Given the description of an element on the screen output the (x, y) to click on. 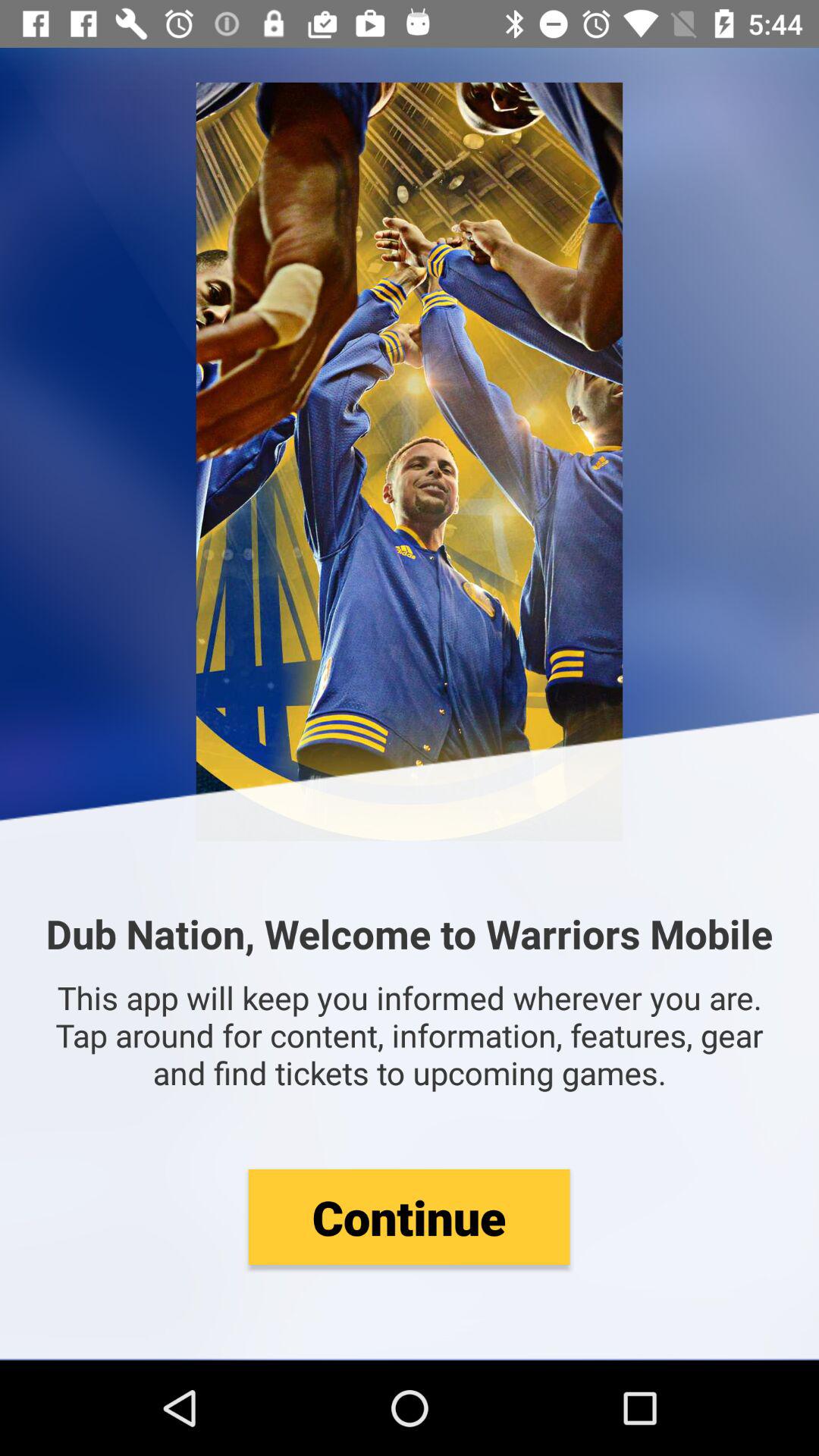
click the continue item (408, 1216)
